Given the description of an element on the screen output the (x, y) to click on. 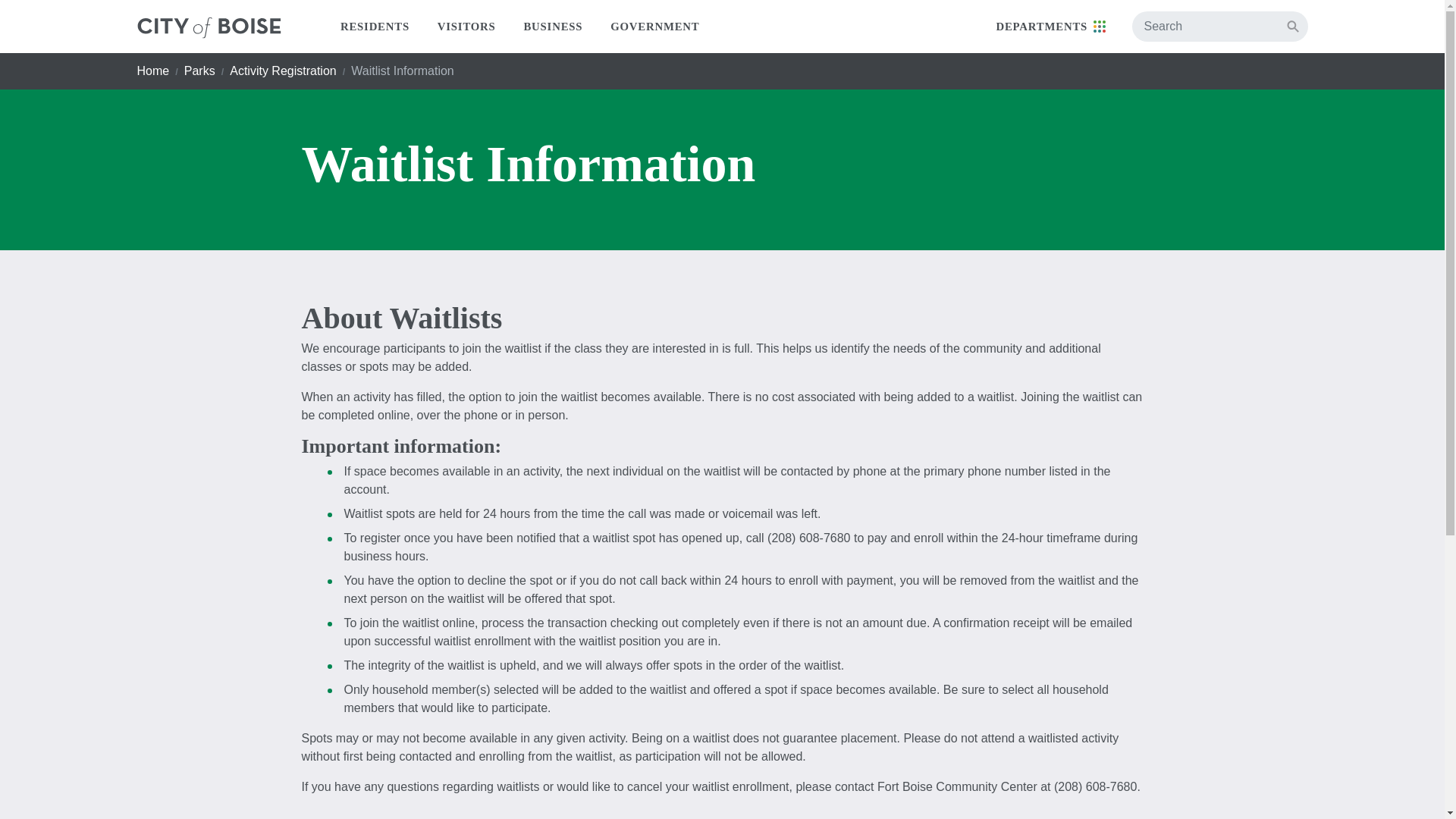
SEARCH (1292, 26)
Activity Registration (283, 70)
BUSINESS (552, 26)
Parks (199, 70)
GOVERNMENT (654, 26)
VISITORS (466, 26)
Home (152, 70)
RESIDENTS (374, 26)
DEPARTMENTS (1050, 26)
